Given the description of an element on the screen output the (x, y) to click on. 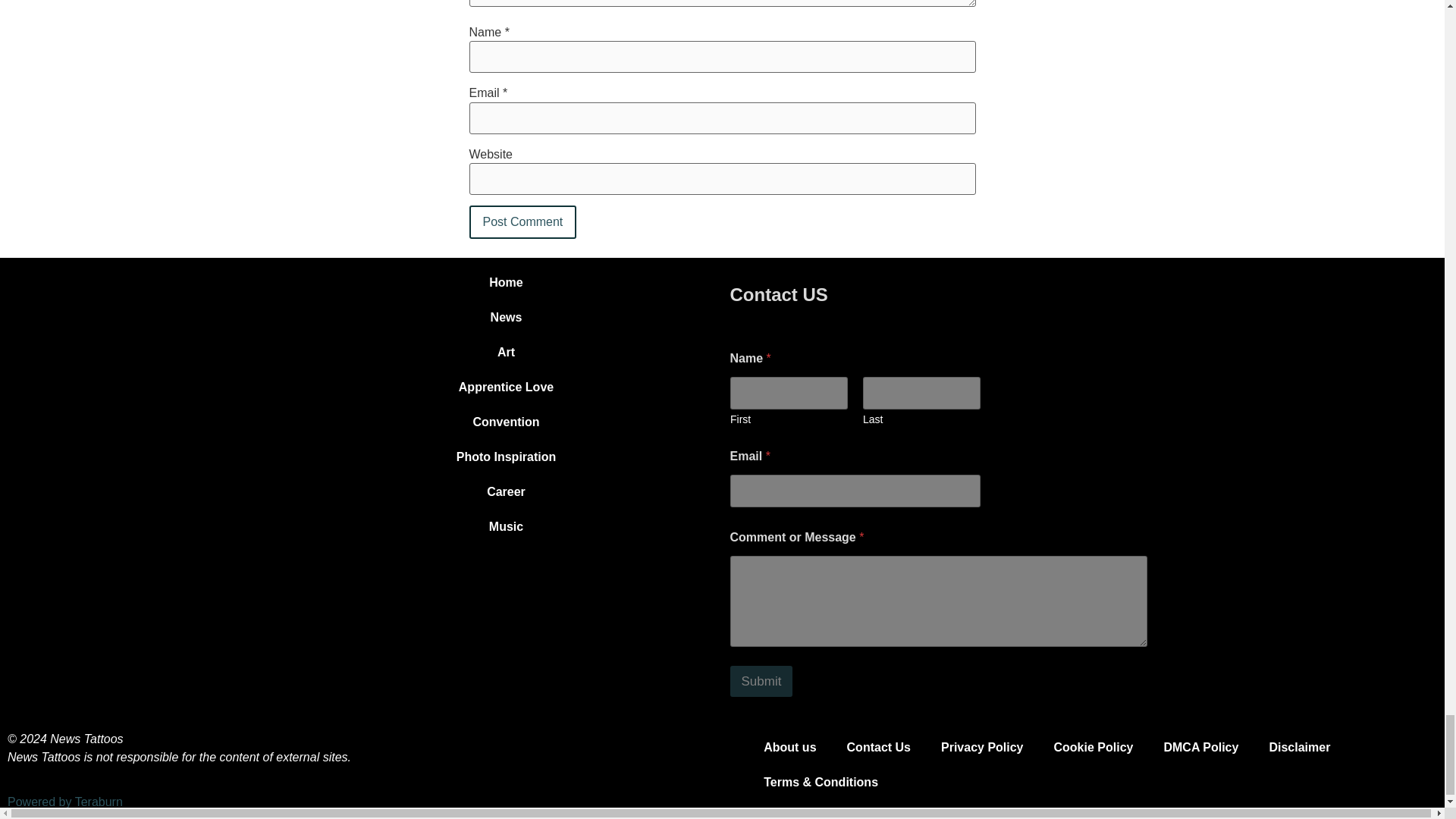
Post Comment (522, 222)
Music (505, 526)
Career (505, 492)
Photo Inspiration (505, 457)
Home (505, 282)
Apprentice Love (505, 387)
Post Comment (522, 222)
Art (505, 352)
News (505, 317)
Convention (505, 421)
